Given the description of an element on the screen output the (x, y) to click on. 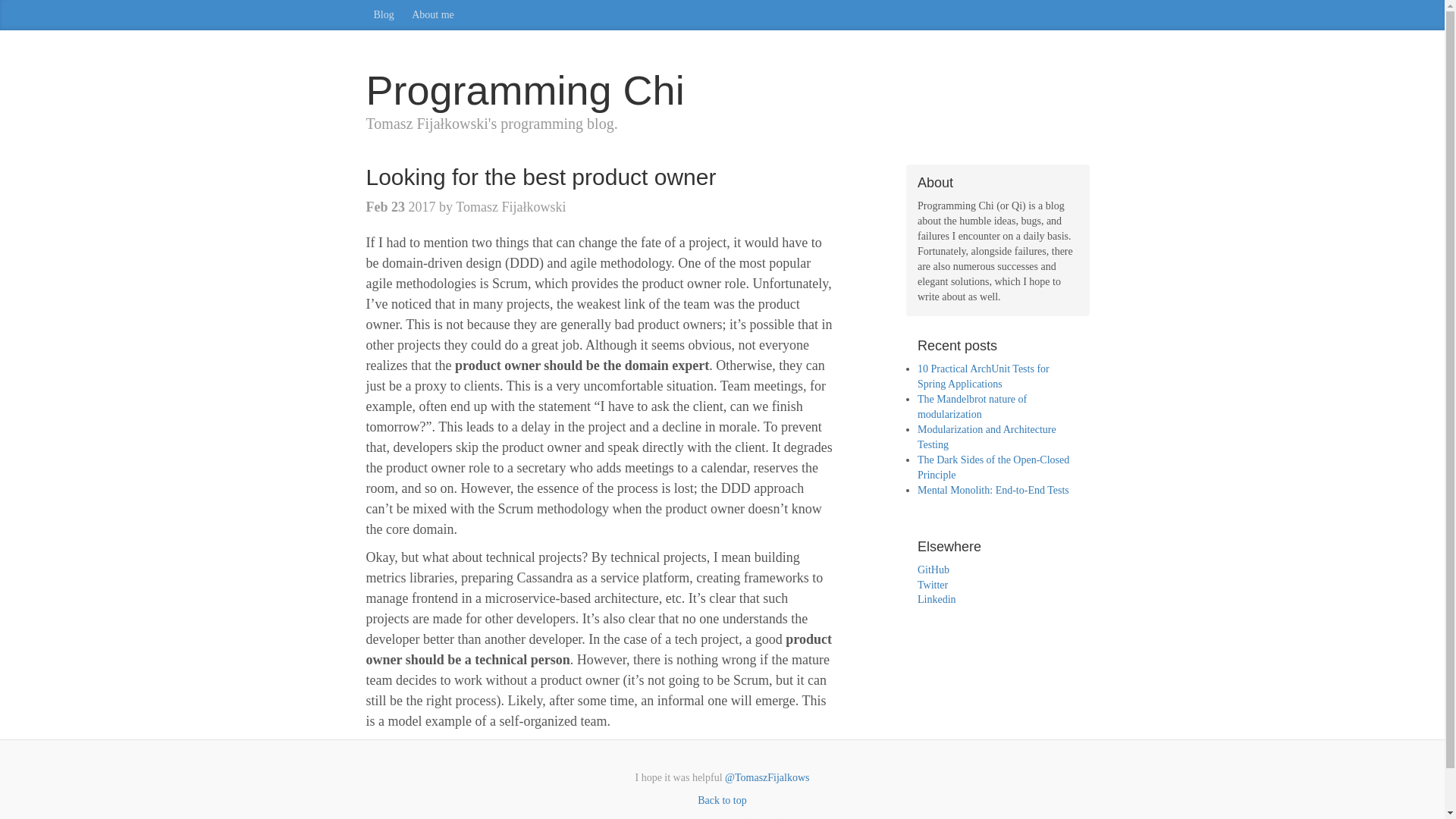
Twitter (932, 584)
10 Practical ArchUnit Tests for Spring Applications (983, 376)
The Mandelbrot nature of modularization (971, 406)
Back to top (721, 799)
Mental Monolith: End-to-End Tests (992, 490)
GitHub (933, 569)
Blog (383, 15)
The Dark Sides of the Open-Closed Principle (992, 467)
Modularization and Architecture Testing (987, 437)
Linkedin (936, 599)
About me (432, 15)
